Given the description of an element on the screen output the (x, y) to click on. 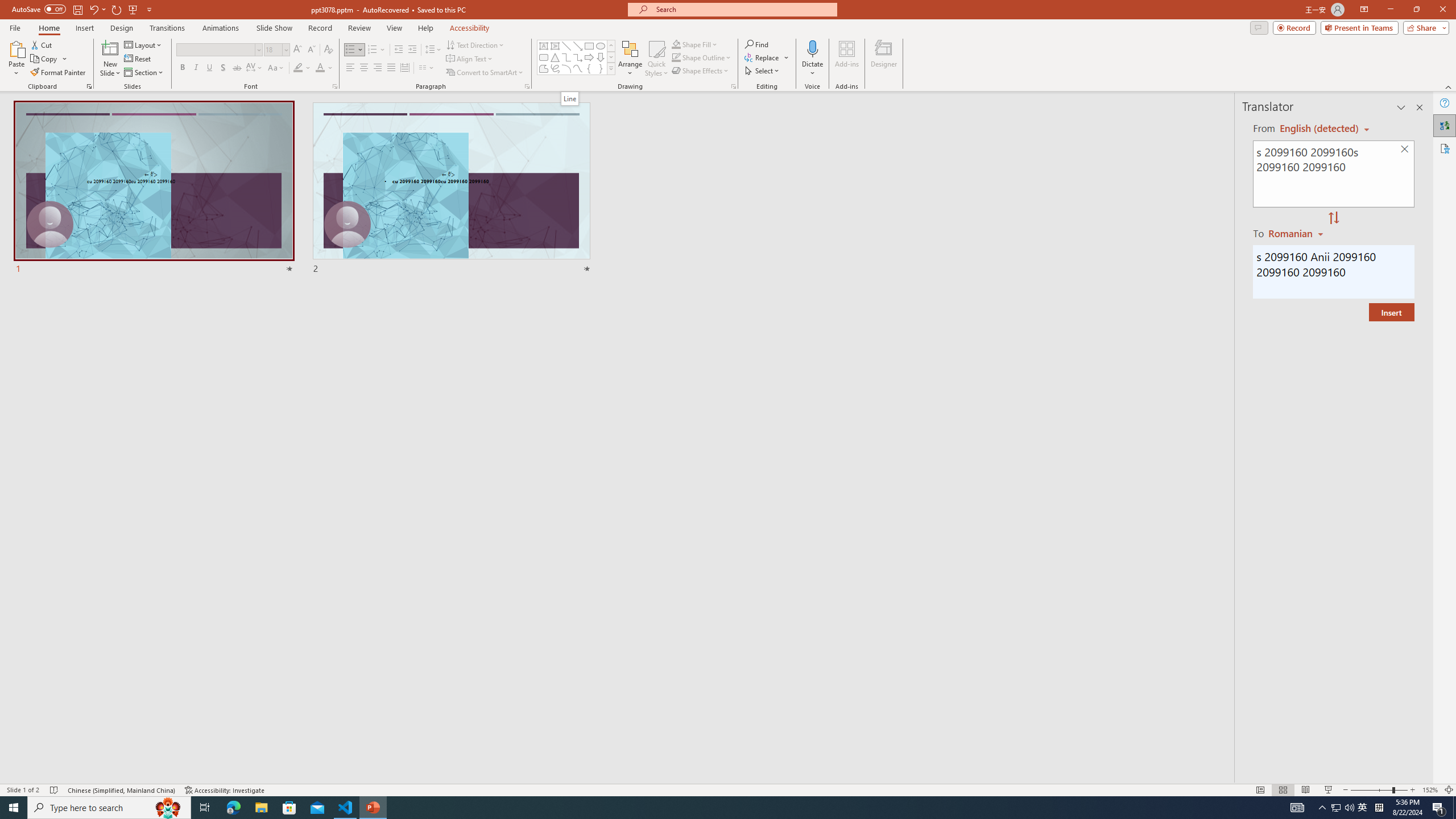
Italic (195, 67)
Connector: Elbow (566, 57)
Shape Outline (701, 56)
Shadow (223, 67)
Layout (143, 44)
Line Spacing (433, 49)
Select (762, 69)
Text Box (543, 45)
Character Spacing (254, 67)
Swap "from" and "to" languages. (1333, 218)
